Given the description of an element on the screen output the (x, y) to click on. 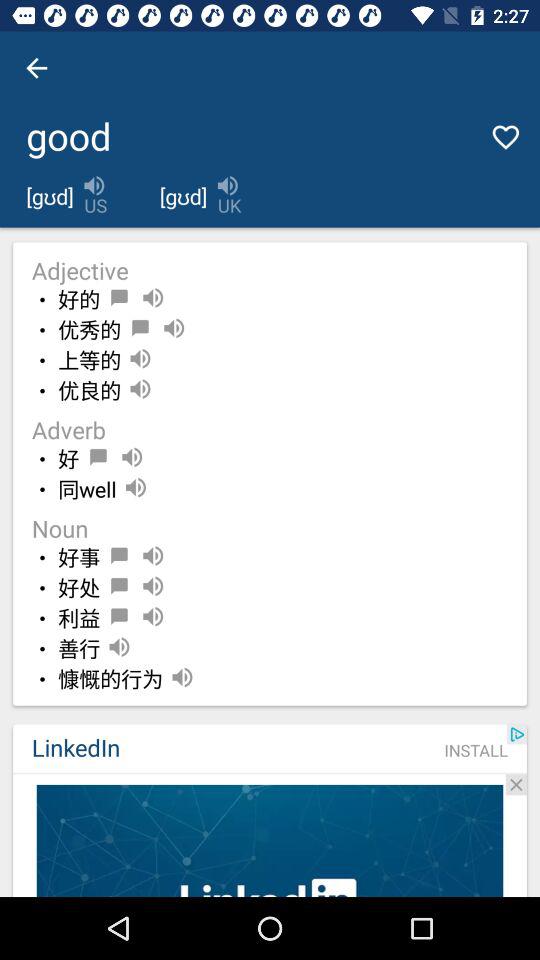
turn on the item above noun item (87, 490)
